Given the description of an element on the screen output the (x, y) to click on. 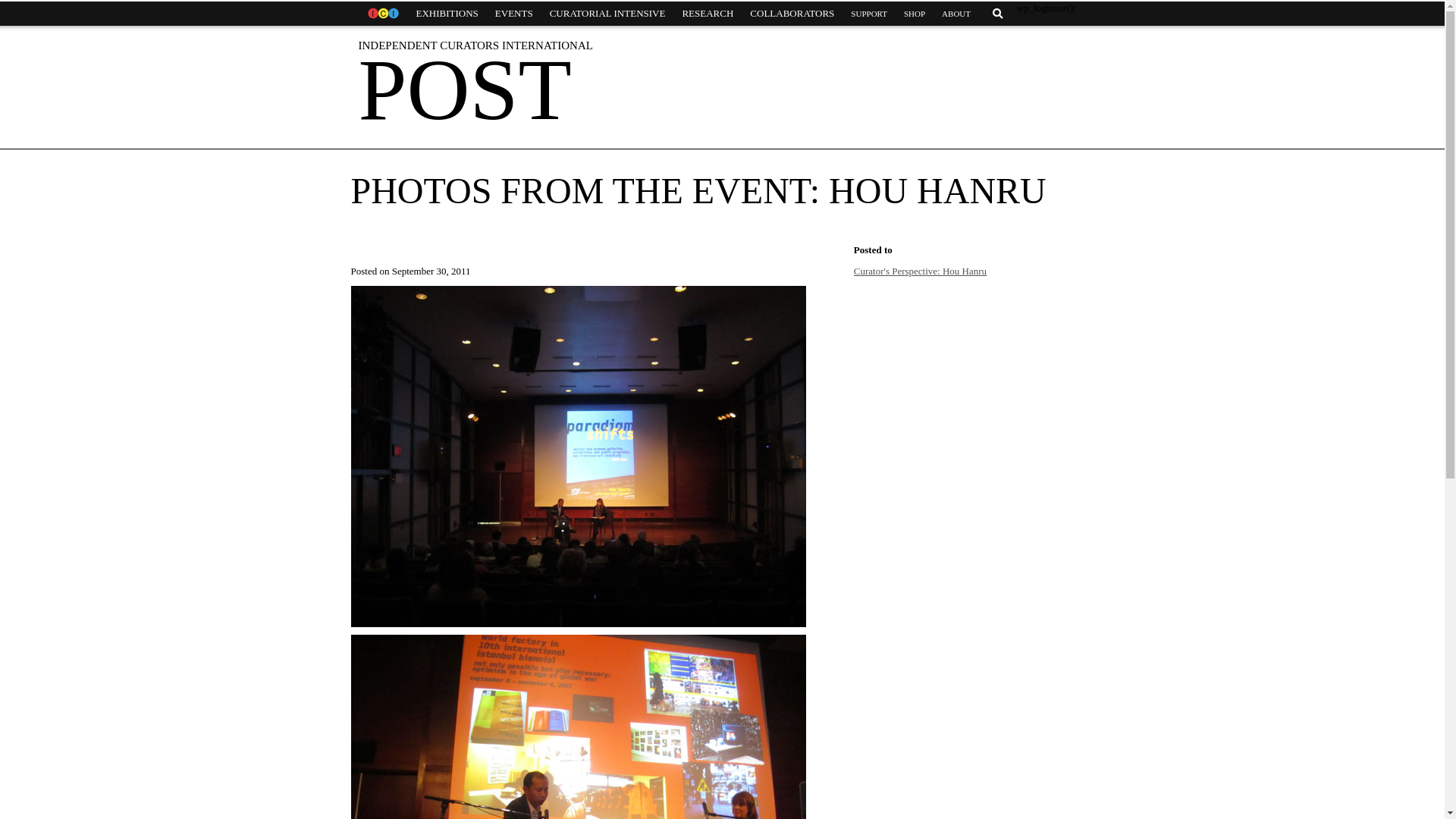
EVENTS (513, 13)
RESEARCH (706, 13)
HOME (382, 13)
EXHIBITIONS (446, 13)
CURATORIAL INTENSIVE (607, 13)
COLLABORATORS (792, 13)
